Given the description of an element on the screen output the (x, y) to click on. 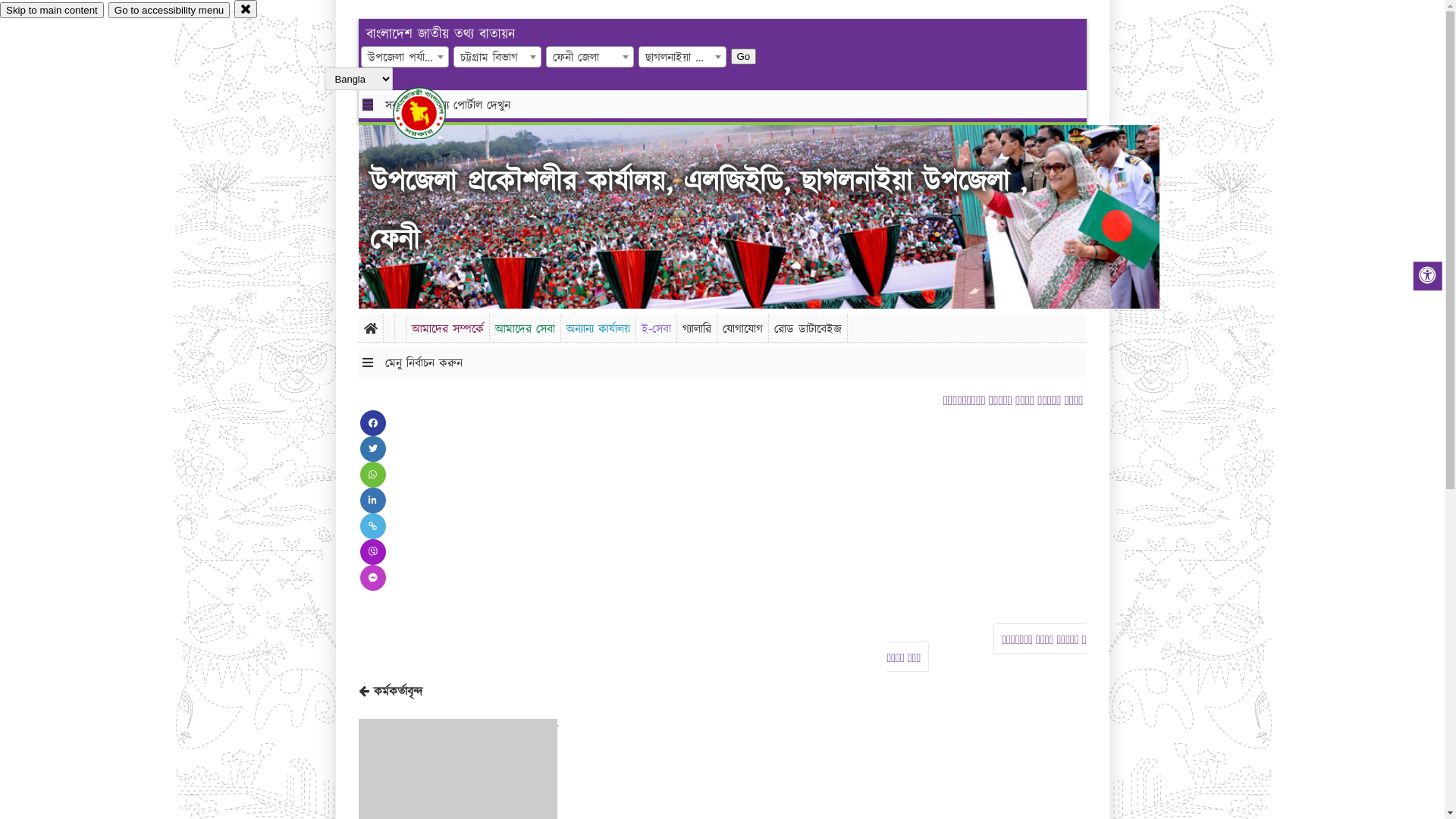
Skip to main content Element type: text (51, 10)
Go Element type: text (466, 56)
Go to accessibility menu Element type: text (168, 10)
close Element type: hover (245, 9)

                
             Element type: hover (431, 112)
